Given the description of an element on the screen output the (x, y) to click on. 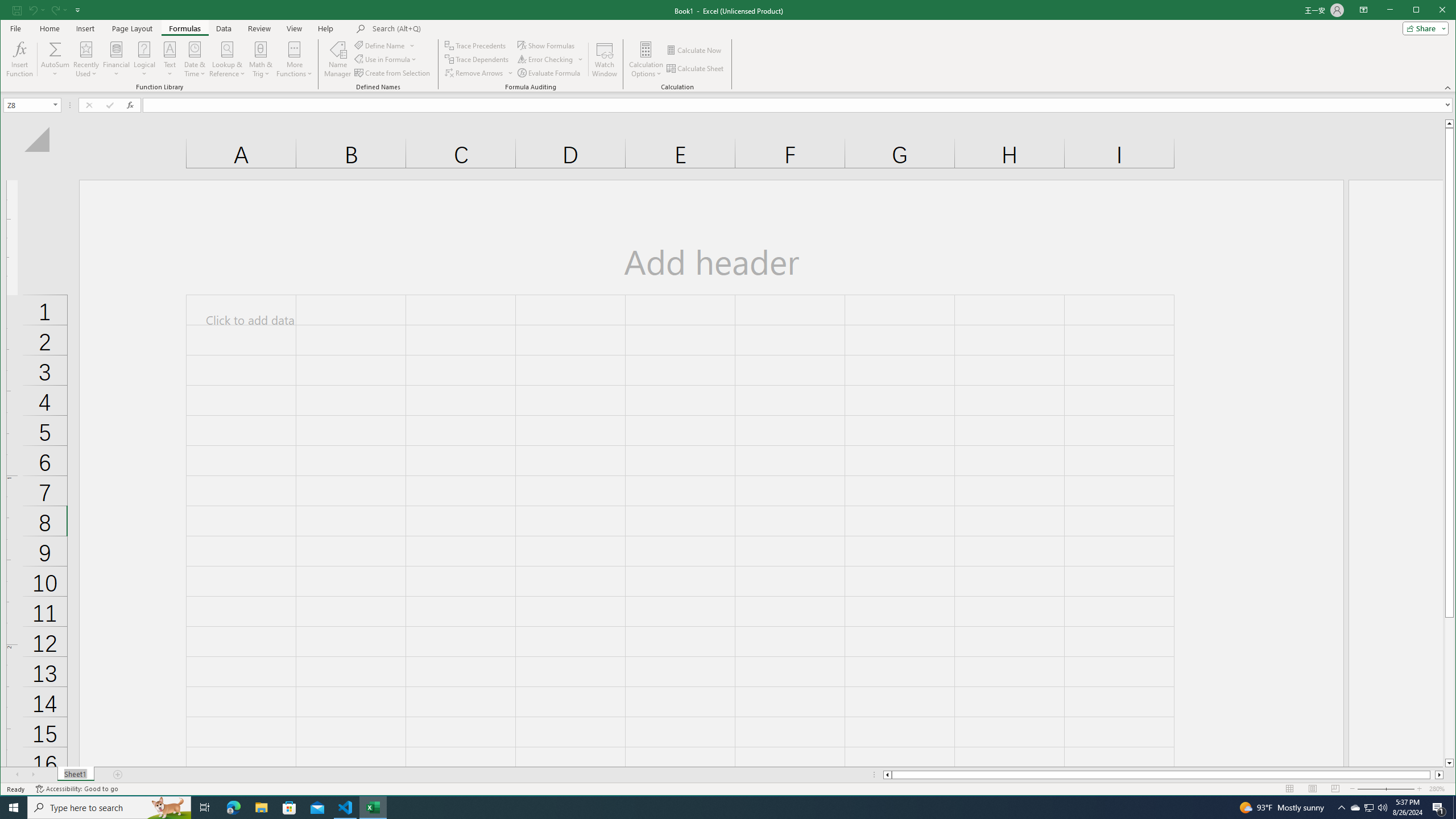
AutoSum (55, 59)
Microsoft Store (289, 807)
Microsoft Edge (233, 807)
Insert Function... (19, 59)
Create from Selection... (392, 72)
Start (13, 807)
Maximize (1432, 11)
Text (170, 59)
